Given the description of an element on the screen output the (x, y) to click on. 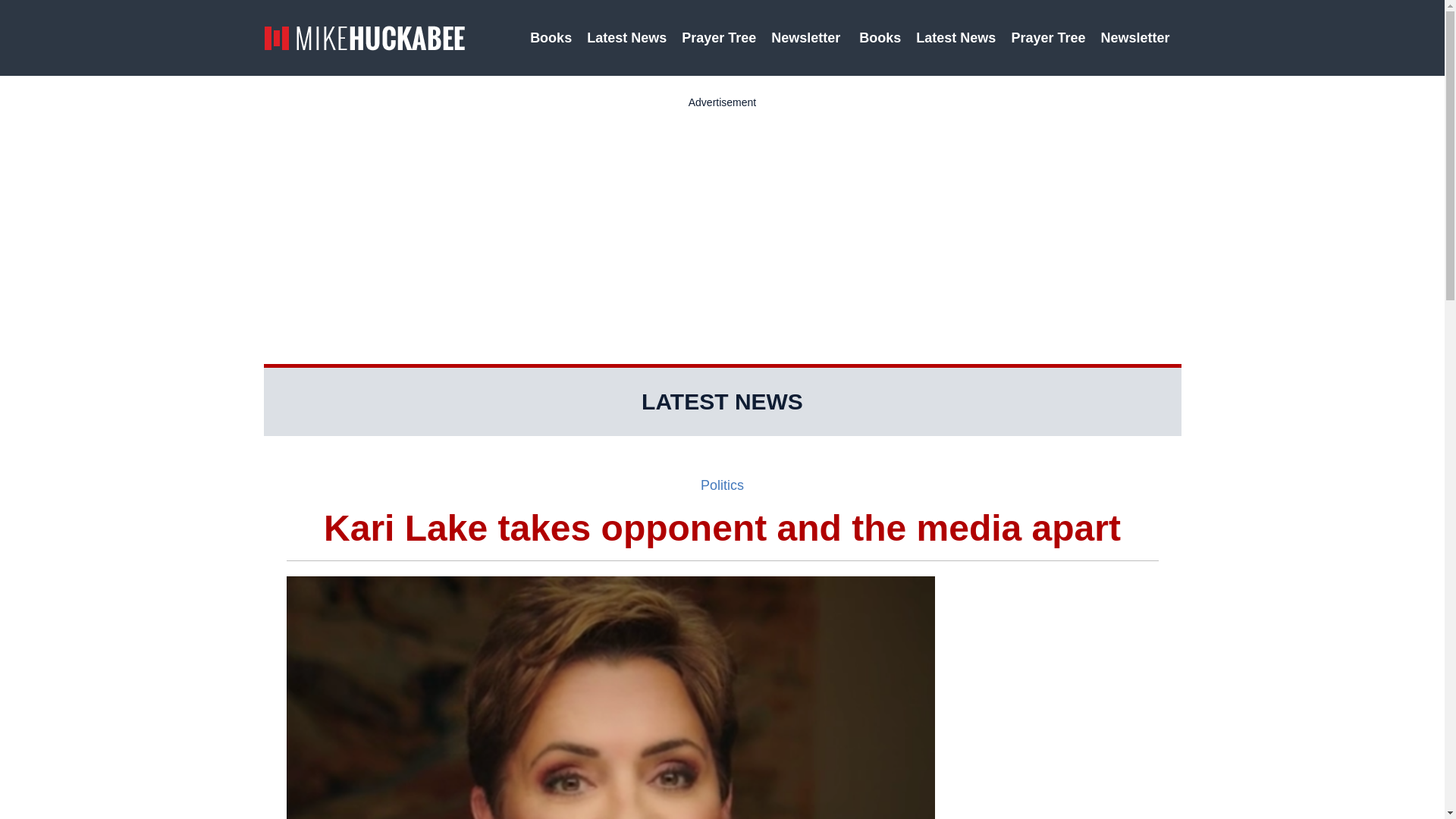
Latest News (626, 38)
Prayer Tree (718, 38)
Latest News (955, 38)
Newsletter (806, 38)
Kari Lake takes opponent and the media apart (722, 528)
Newsletter (1136, 38)
Politics (722, 485)
Prayer Tree (1048, 38)
